Given the description of an element on the screen output the (x, y) to click on. 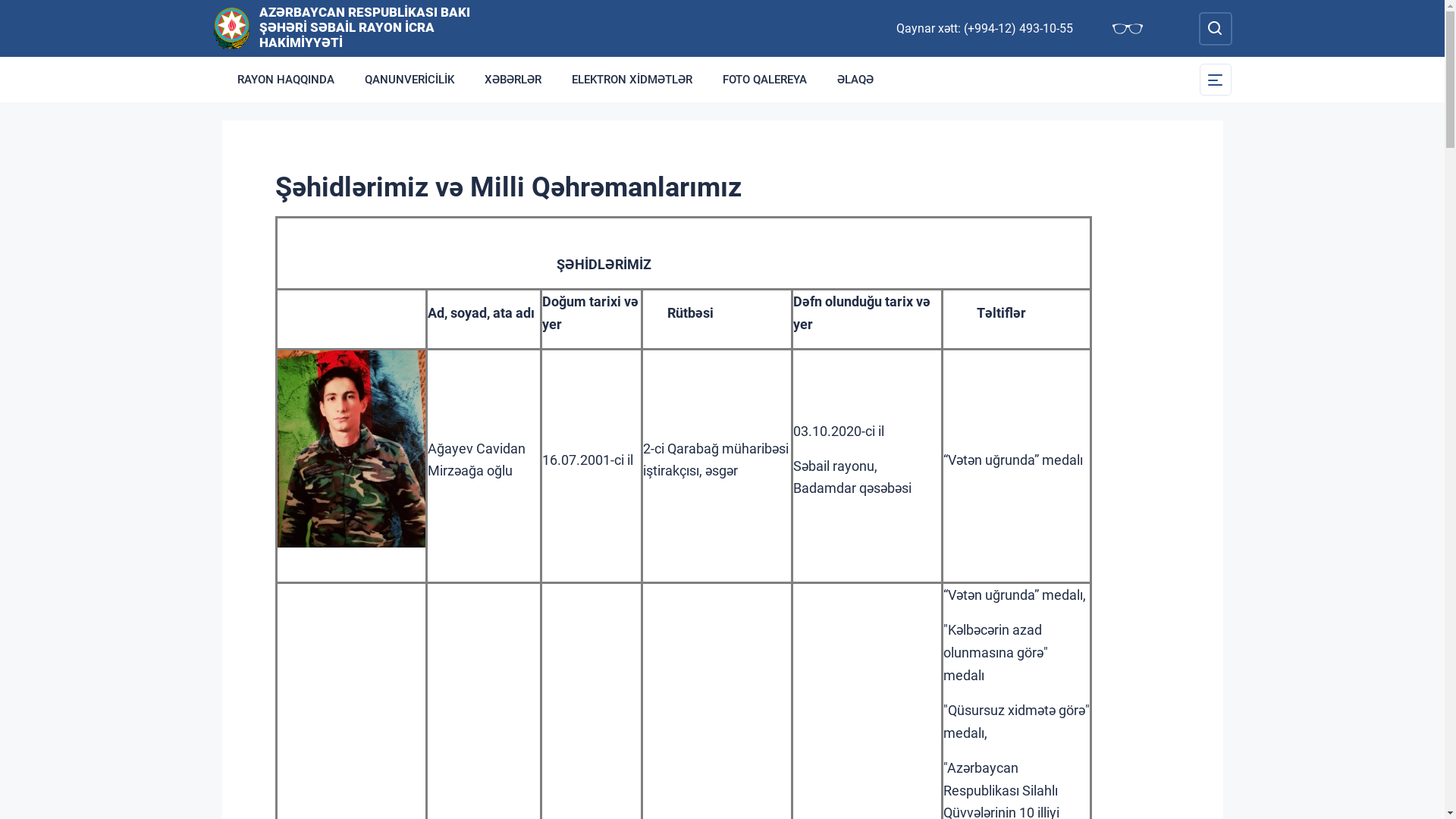
QANUNVERICILIK Element type: text (408, 79)
FOTO QALEREYA Element type: text (763, 79)
RAYON HAQQINDA Element type: text (284, 79)
